Given the description of an element on the screen output the (x, y) to click on. 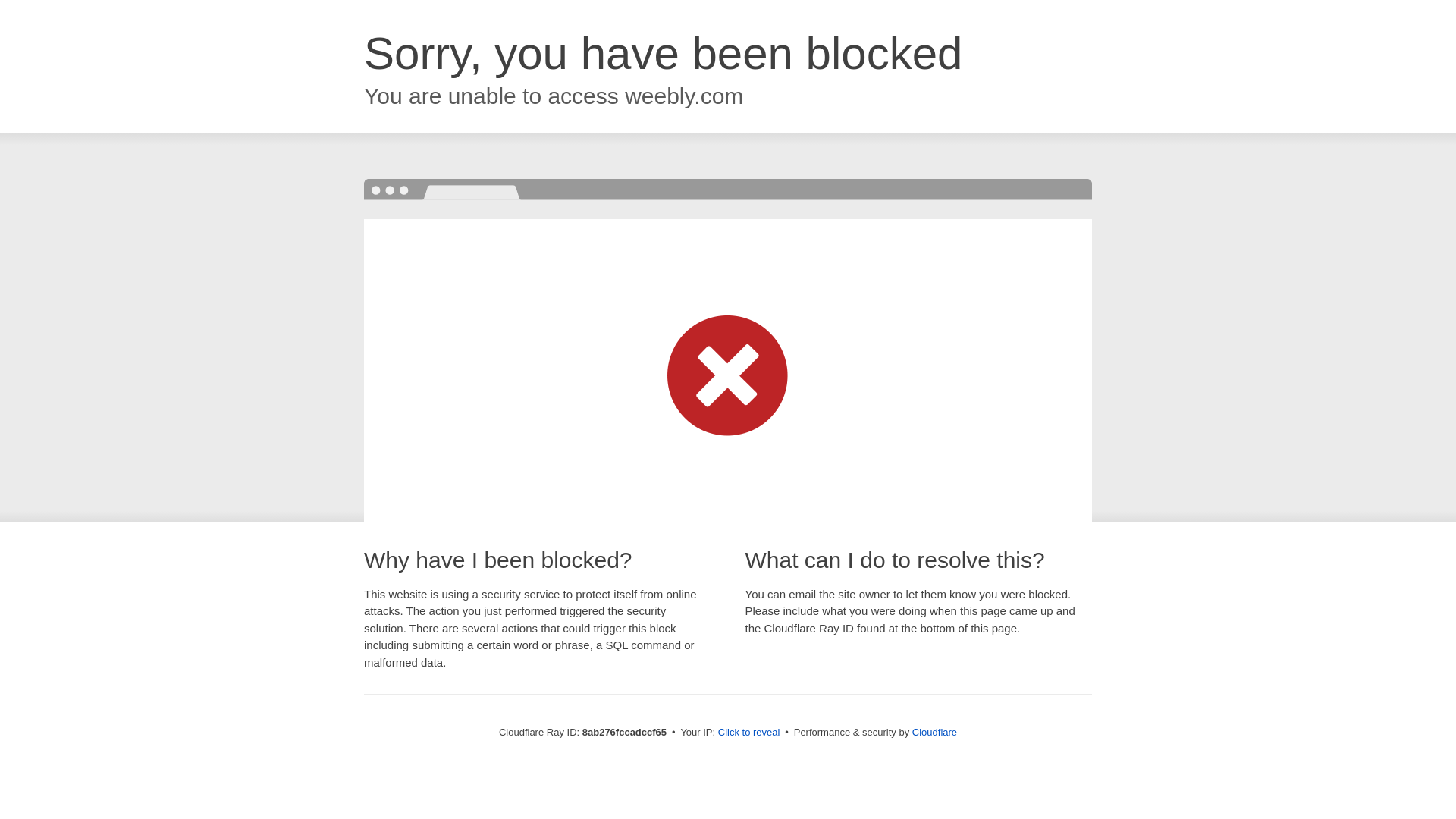
Click to reveal (748, 732)
Cloudflare (934, 731)
